Given the description of an element on the screen output the (x, y) to click on. 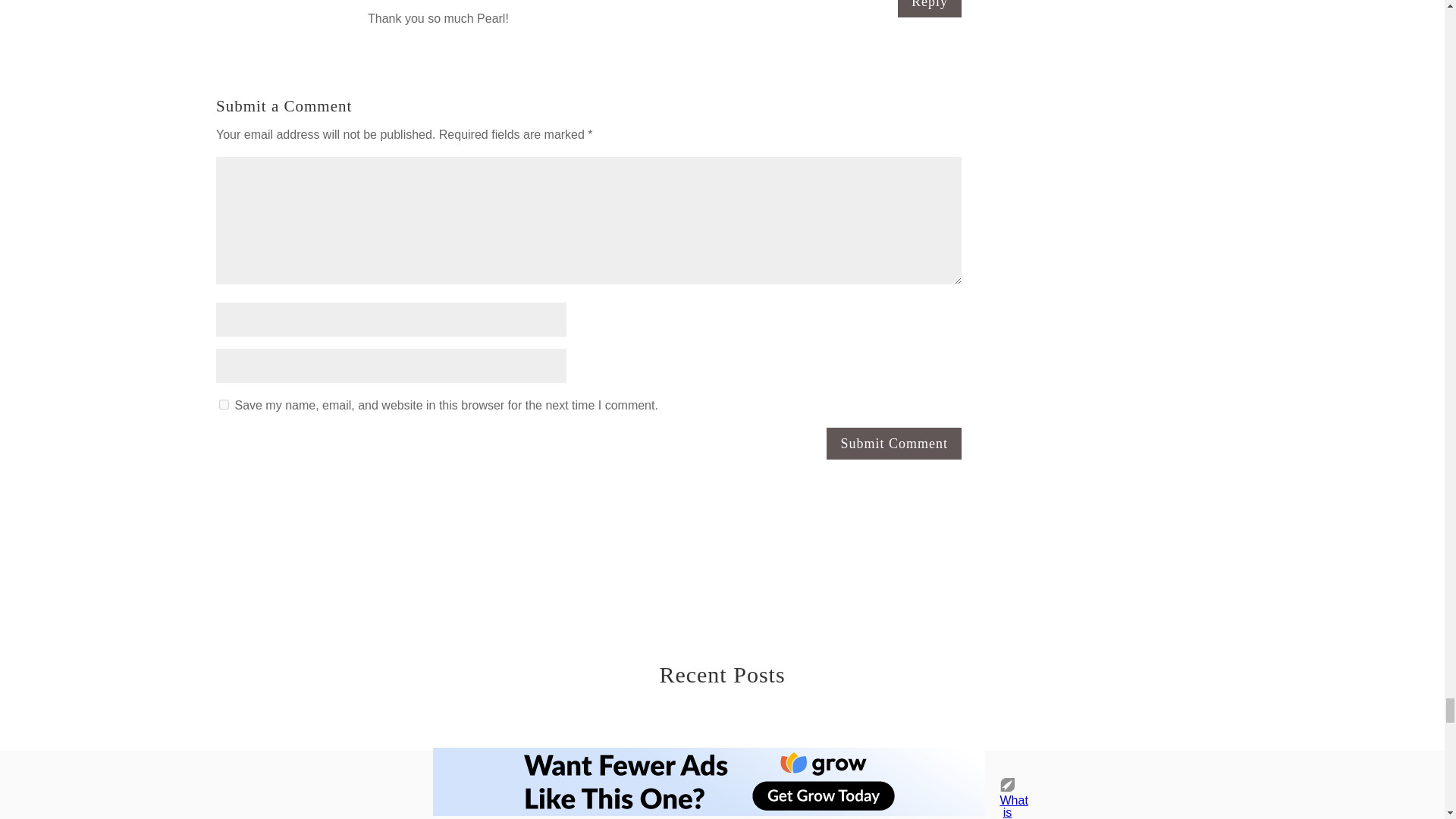
yes (223, 404)
